Given the description of an element on the screen output the (x, y) to click on. 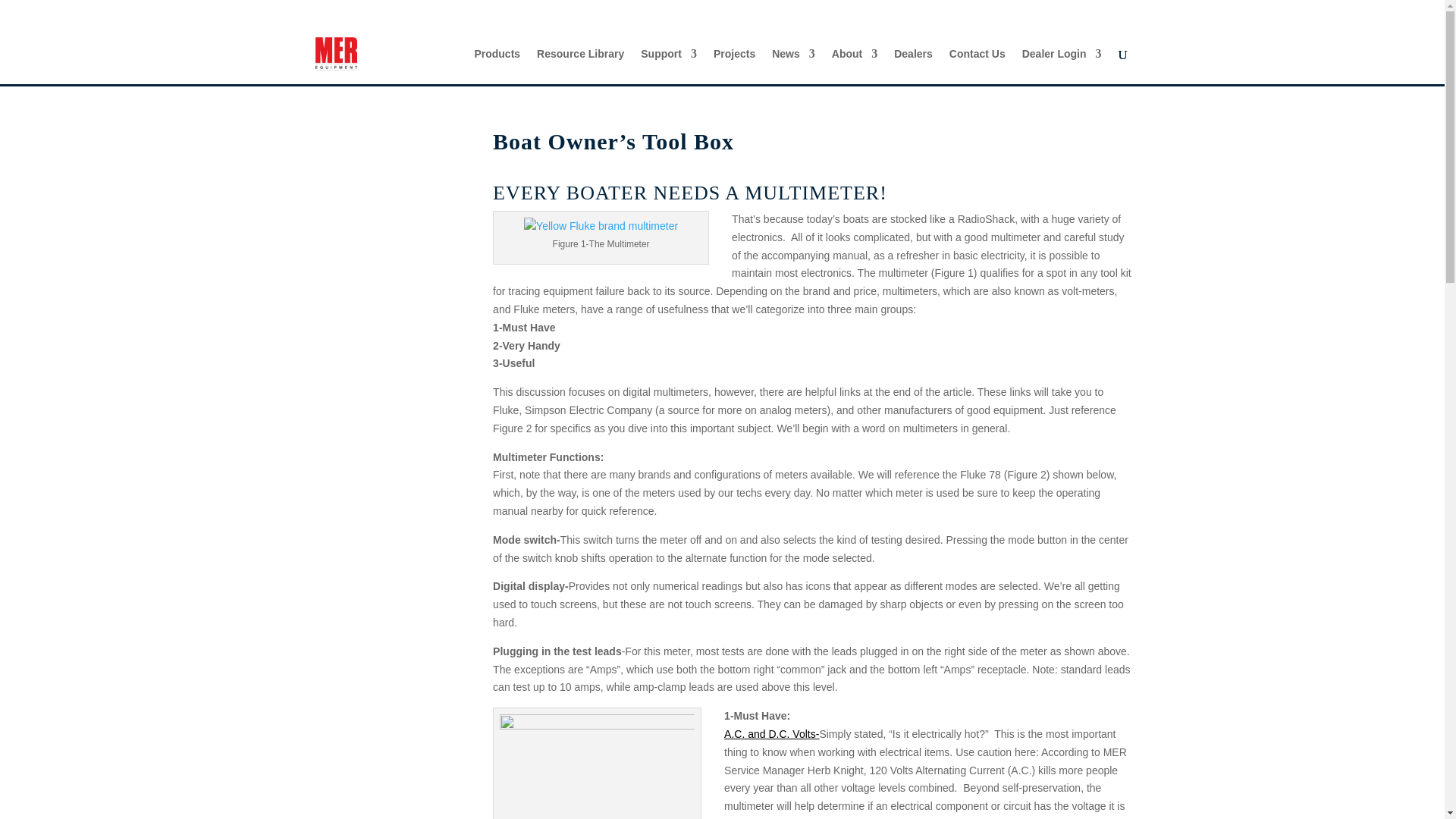
Resource Library (580, 66)
Dealers (913, 66)
News (793, 66)
Products (496, 66)
Support (668, 66)
Dealer Login (1062, 66)
MER News (793, 66)
Contact MER Equipment (977, 66)
About MER Equipment (854, 66)
Support (668, 66)
Projects (734, 66)
About (854, 66)
BOLLARD Dealers (913, 66)
Contact Us (977, 66)
Projects (734, 66)
